Given the description of an element on the screen output the (x, y) to click on. 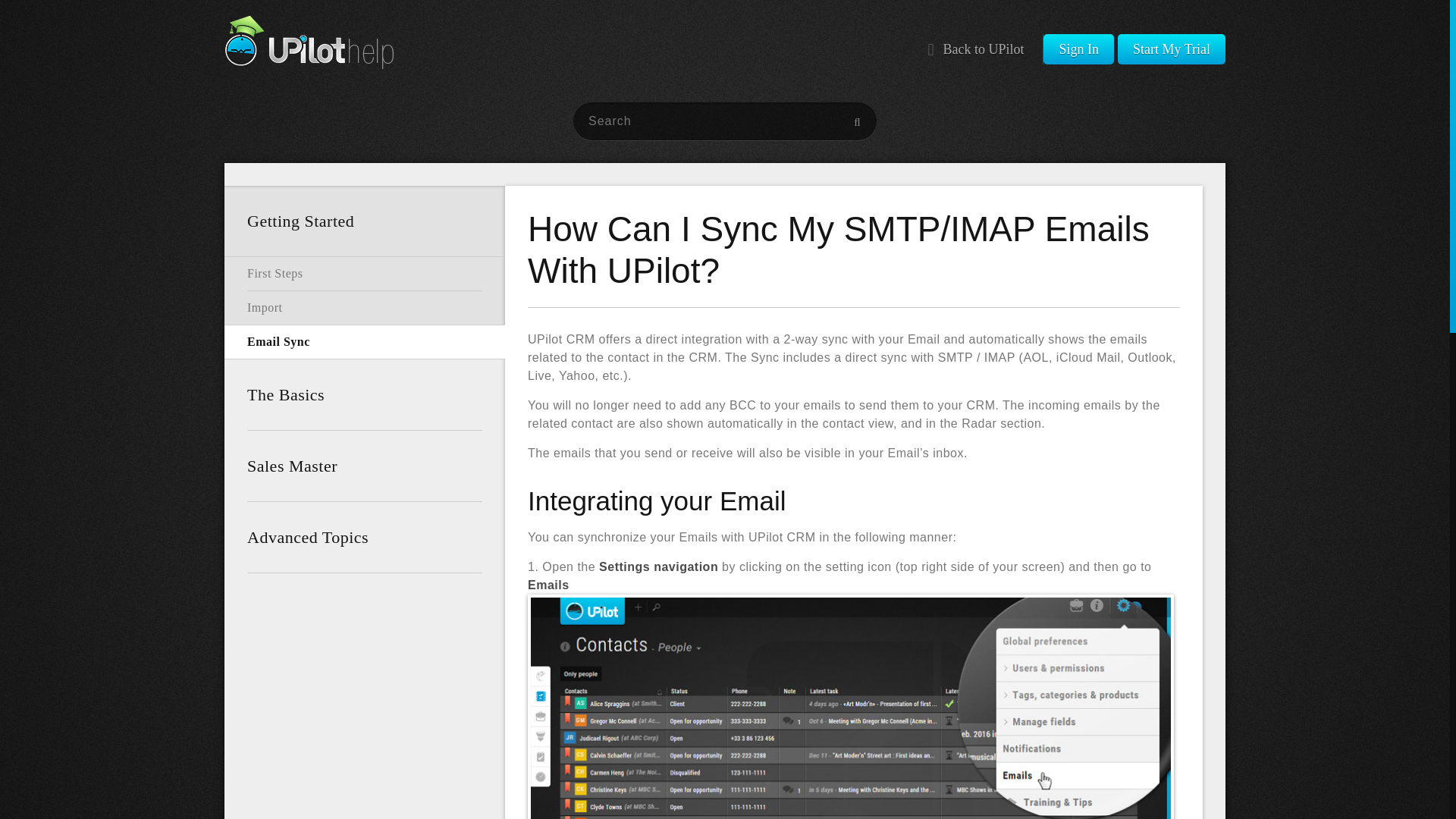
Search (857, 121)
